Given the description of an element on the screen output the (x, y) to click on. 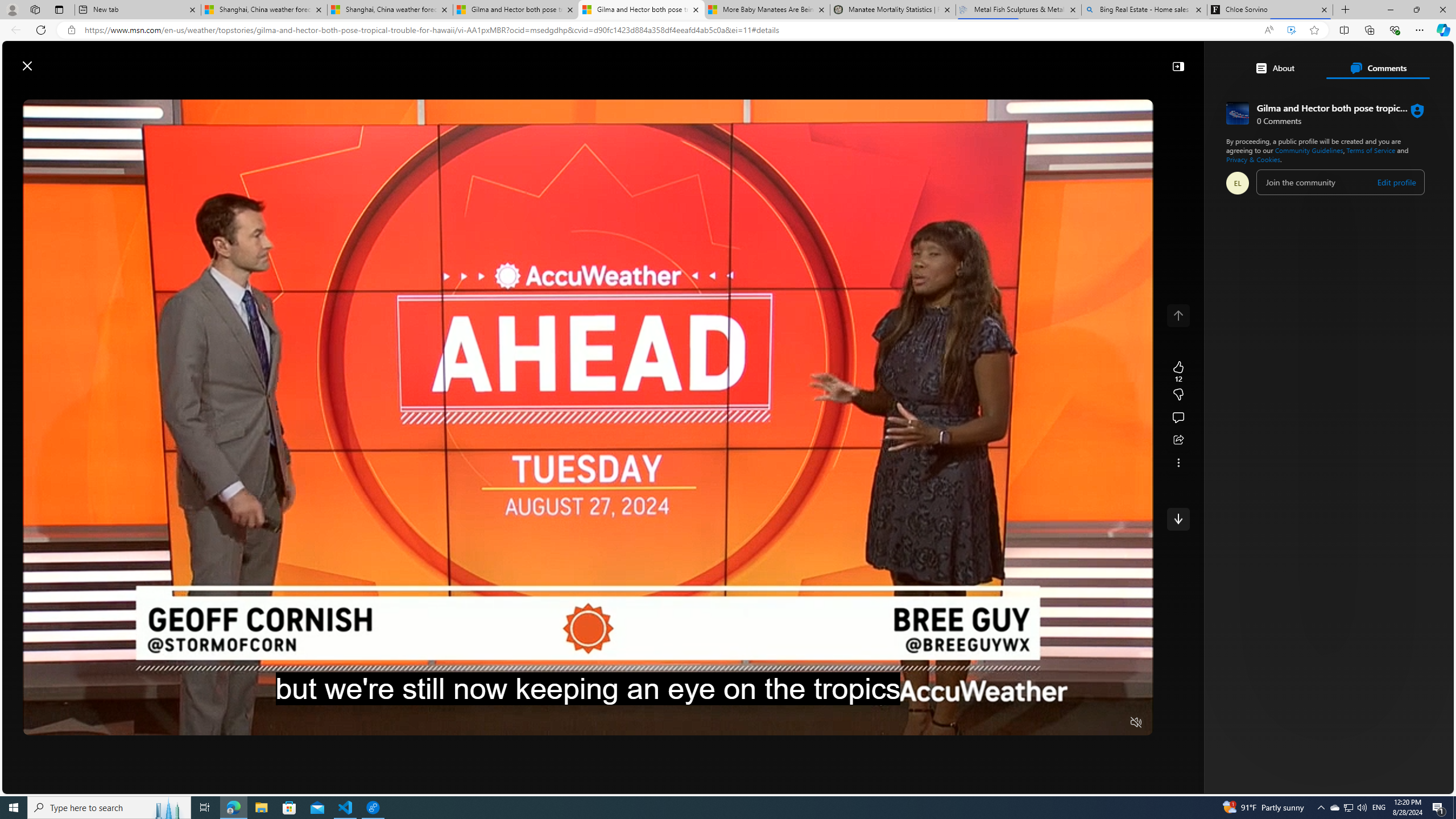
Lawsuits Fly Over Election Rules and Who Gets to Vote (1212, 433)
Class: control (1178, 518)
Fullscreen (1114, 723)
Collapse (1178, 65)
 Lawsuits Fly Over Election Rules and Who Gets to Vote (1292, 435)
